Given the description of an element on the screen output the (x, y) to click on. 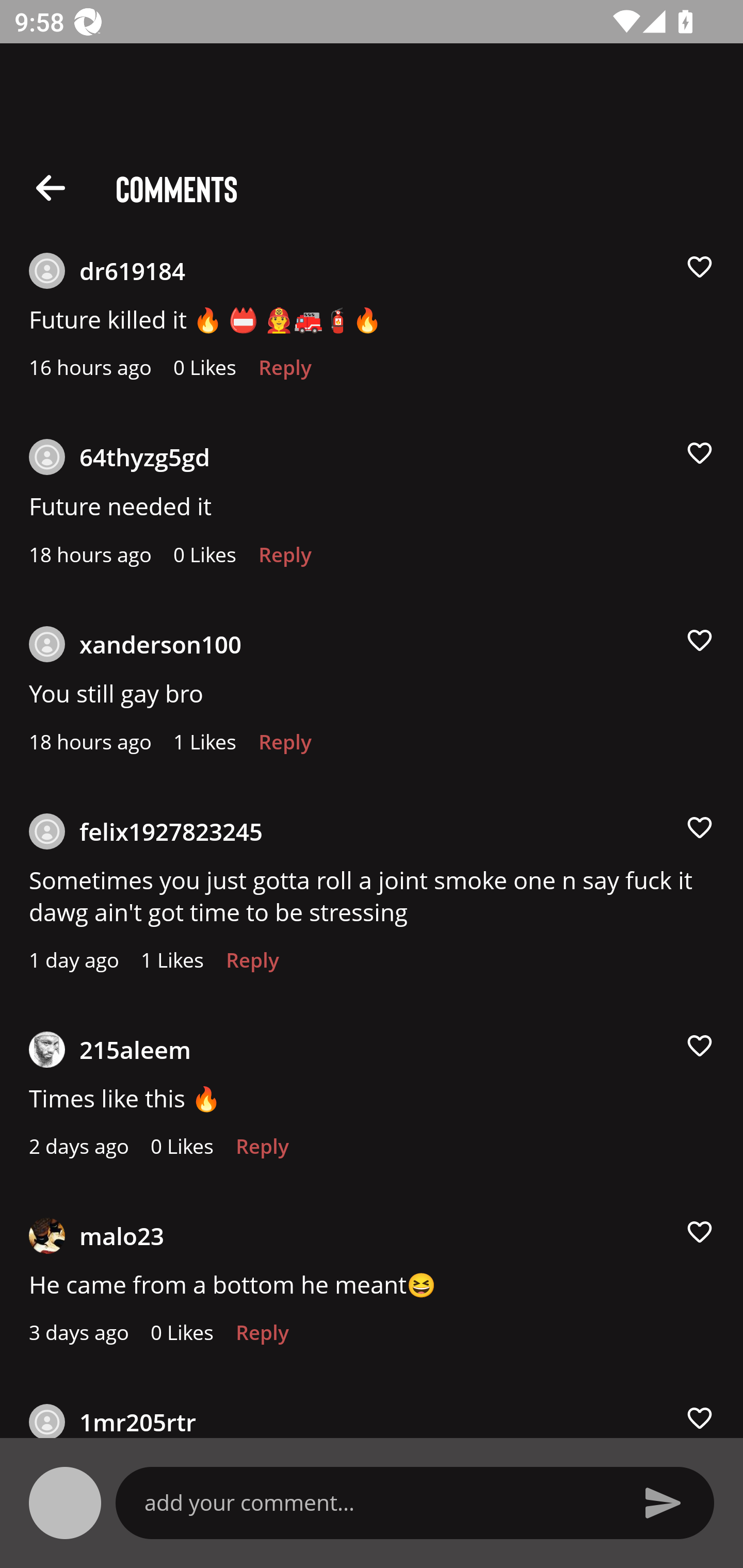
Description (50, 187)
Reply (285, 372)
Reply (285, 559)
Reply (285, 747)
Reply (252, 964)
Reply (261, 1151)
Reply (261, 1337)
add your comment… (378, 1502)
